Given the description of an element on the screen output the (x, y) to click on. 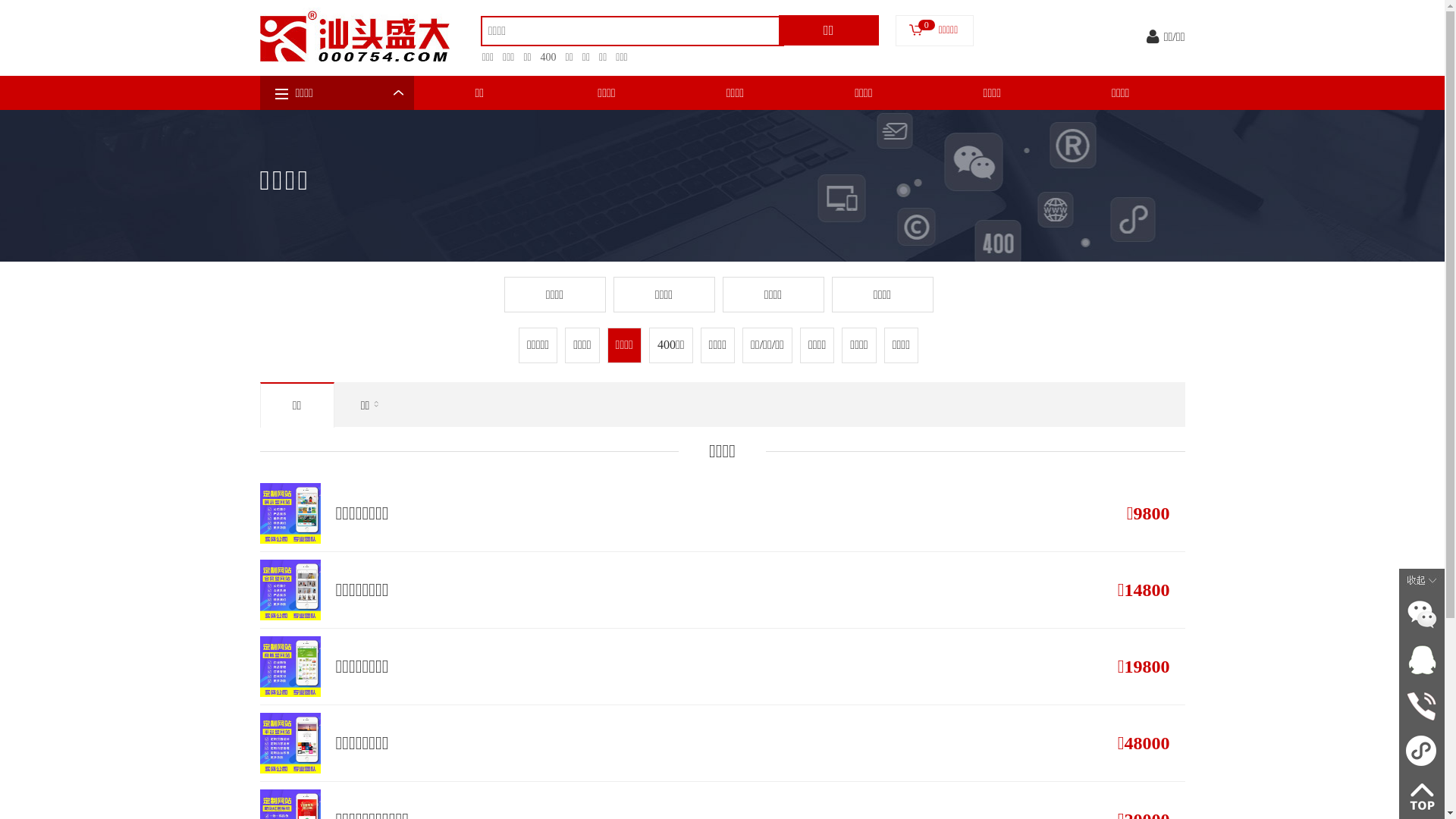
400 Element type: text (543, 57)
